Given the description of an element on the screen output the (x, y) to click on. 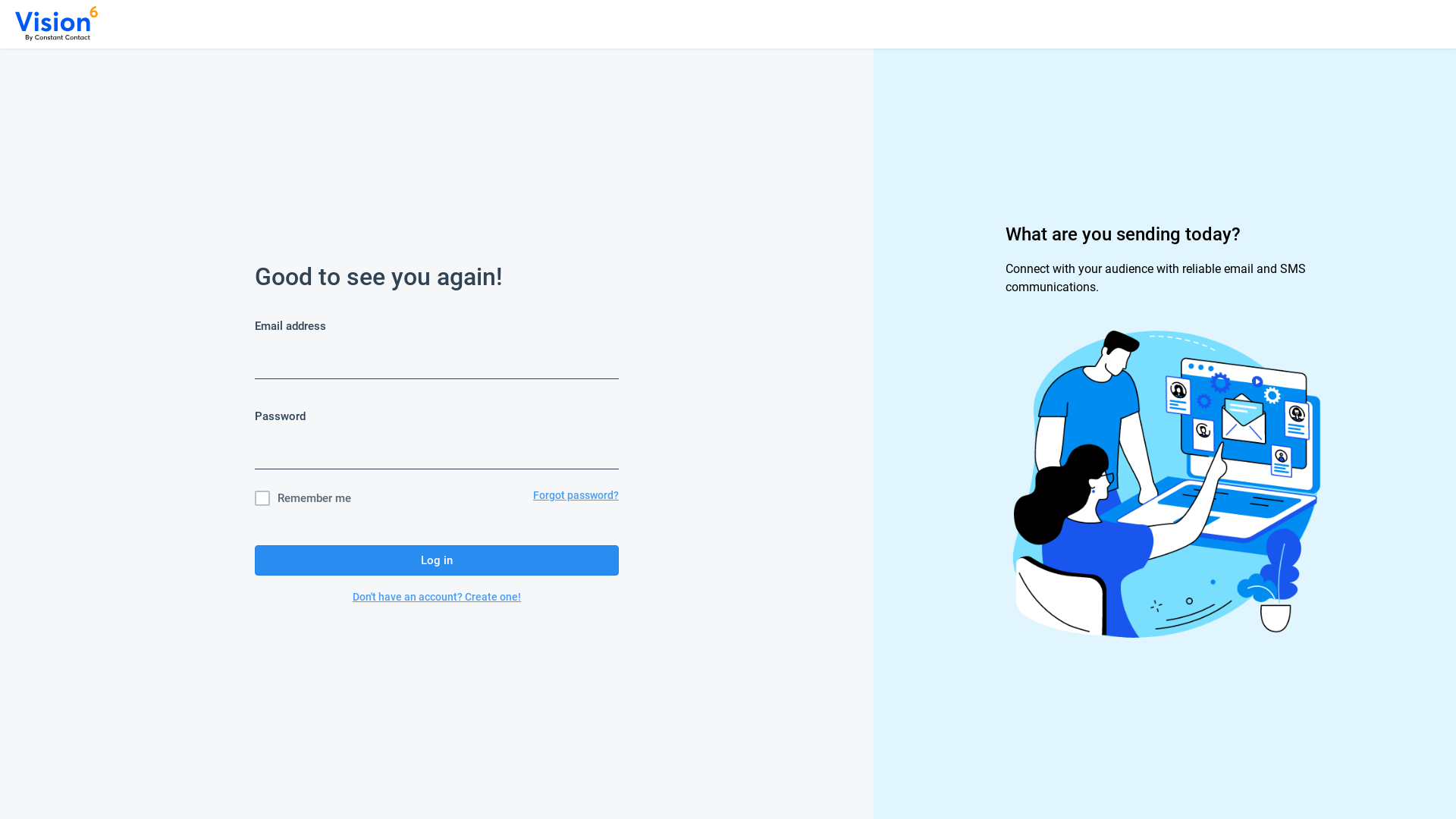
Don't have an account? Create one! Element type: text (436, 596)
Log in Element type: text (436, 560)
Forgot password? Element type: text (575, 498)
